Given the description of an element on the screen output the (x, y) to click on. 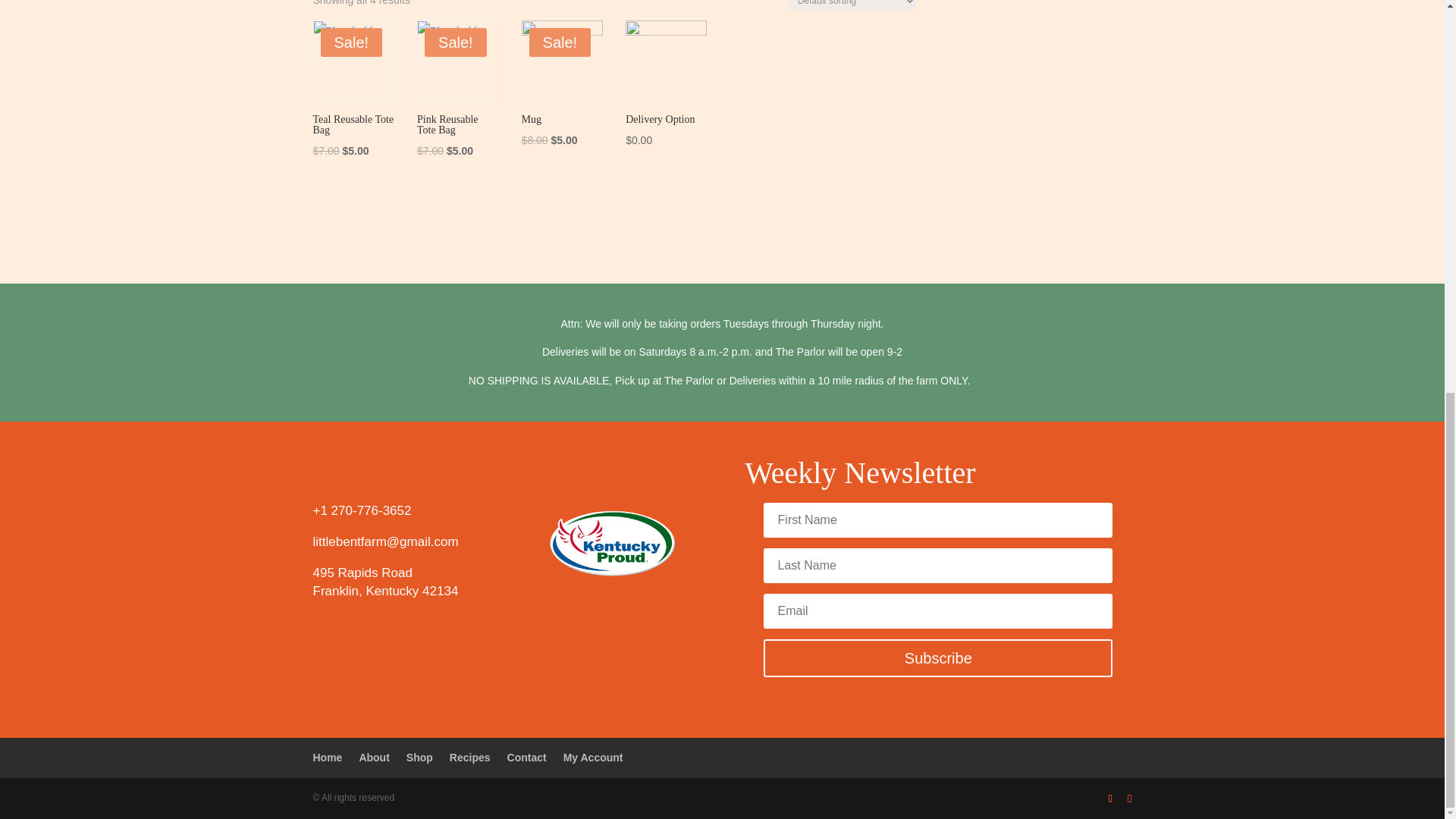
Call with Google Voice (361, 510)
Recipes (469, 757)
Subscribe (937, 658)
Shop (419, 757)
My Account (593, 757)
About (373, 757)
Contact (526, 757)
Home (327, 757)
